Given the description of an element on the screen output the (x, y) to click on. 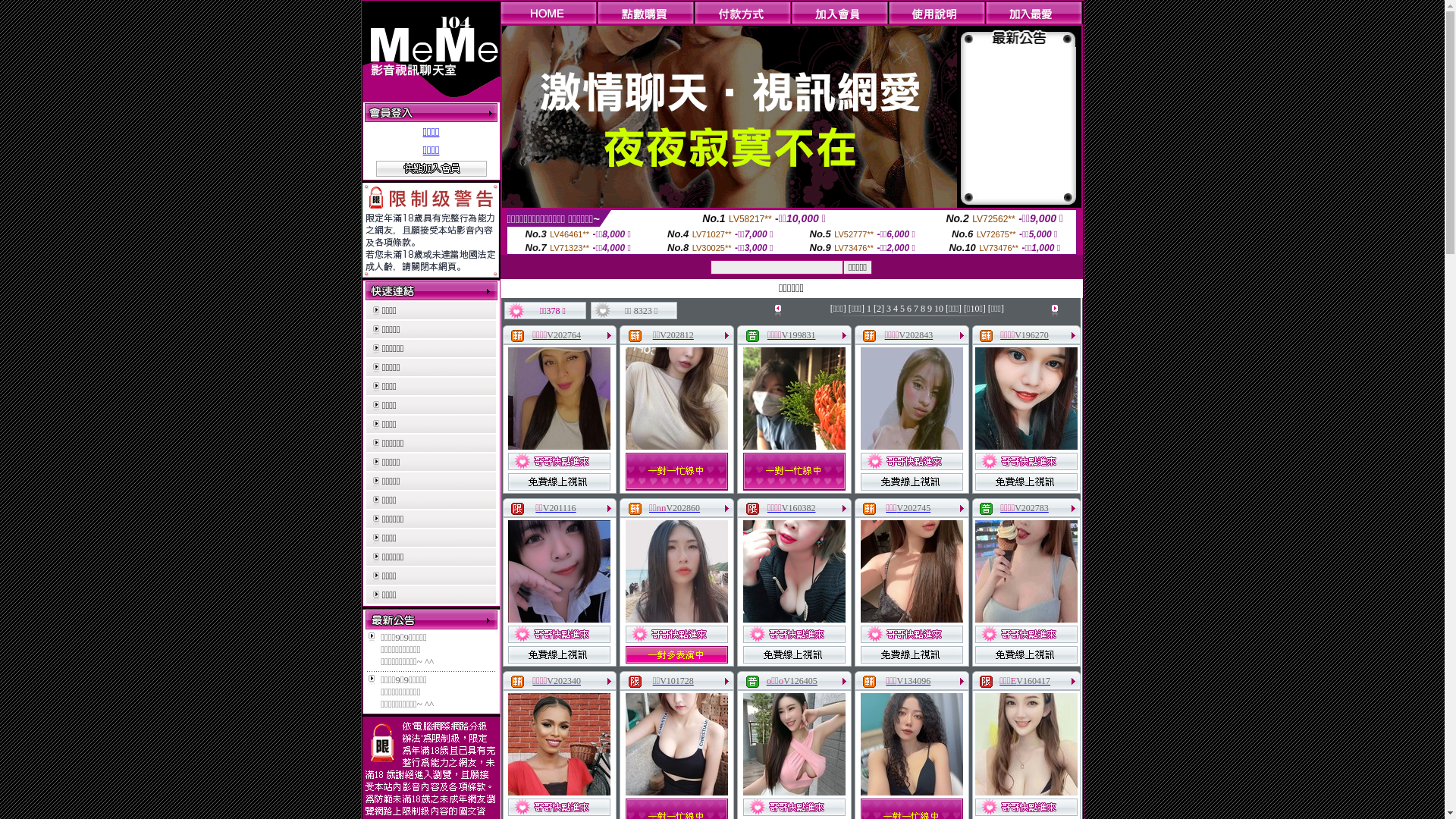
V160382 Element type: text (798, 507)
V202783 Element type: text (1031, 507)
V101728 Element type: text (676, 680)
9 Element type: text (929, 308)
6 Element type: text (908, 308)
8 Element type: text (922, 308)
V160417 Element type: text (1033, 680)
V201116 Element type: text (559, 507)
V202340 Element type: text (563, 680)
7 Element type: text (915, 308)
1 Element type: text (868, 308)
V126405 Element type: text (800, 680)
V202745 Element type: text (914, 507)
V202843 Element type: text (916, 334)
V196270 Element type: text (1031, 334)
V202812 Element type: text (676, 334)
3 Element type: text (888, 308)
V202764 Element type: text (563, 334)
4 Element type: text (895, 308)
5 Element type: text (902, 308)
V134096 Element type: text (914, 680)
V202860 Element type: text (682, 507)
V199831 Element type: text (798, 334)
10 Element type: text (938, 308)
